Given the description of an element on the screen output the (x, y) to click on. 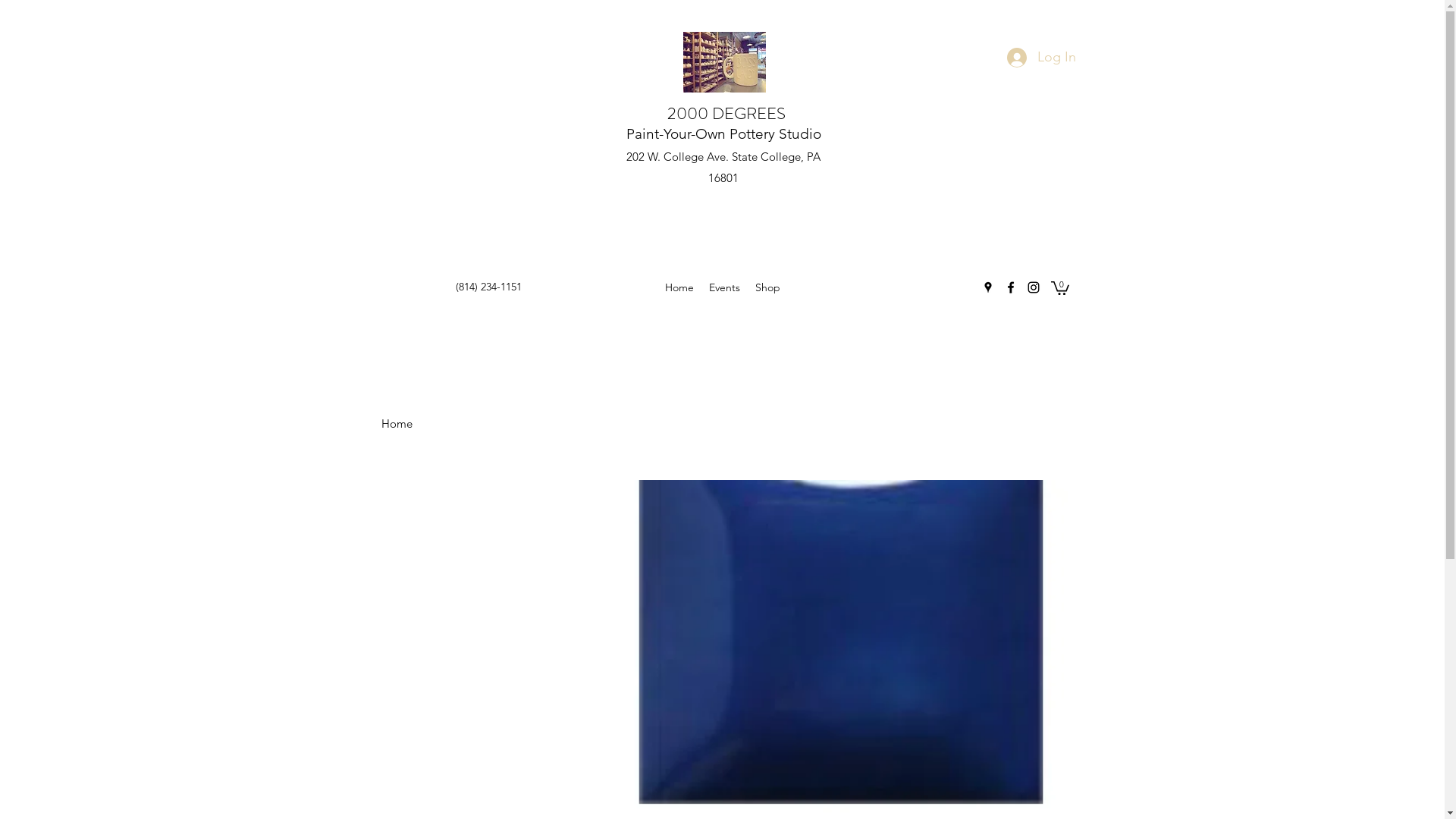
Shop Element type: text (767, 287)
Home Element type: text (395, 423)
2000 DEGREES Element type: text (726, 113)
Events Element type: text (724, 287)
Log In Element type: text (1041, 57)
0 Element type: text (1060, 286)
Home Element type: text (679, 287)
